Given the description of an element on the screen output the (x, y) to click on. 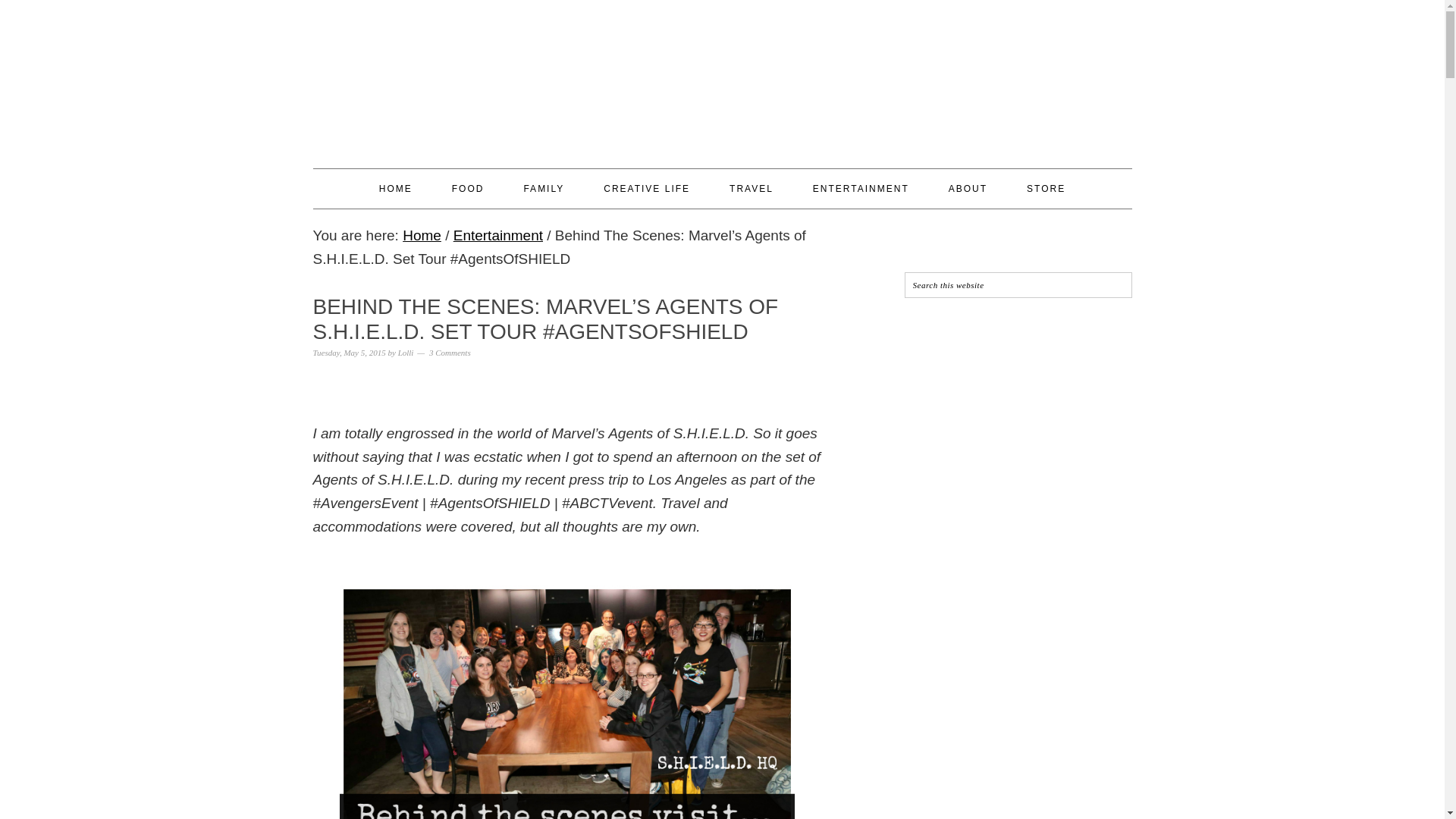
Home (422, 235)
CREATIVE LIFE (647, 188)
Entertainment (497, 235)
ABOUT (968, 188)
FAMILY (543, 188)
HOME (394, 188)
Lolli (405, 352)
STORE (1045, 188)
